Given the description of an element on the screen output the (x, y) to click on. 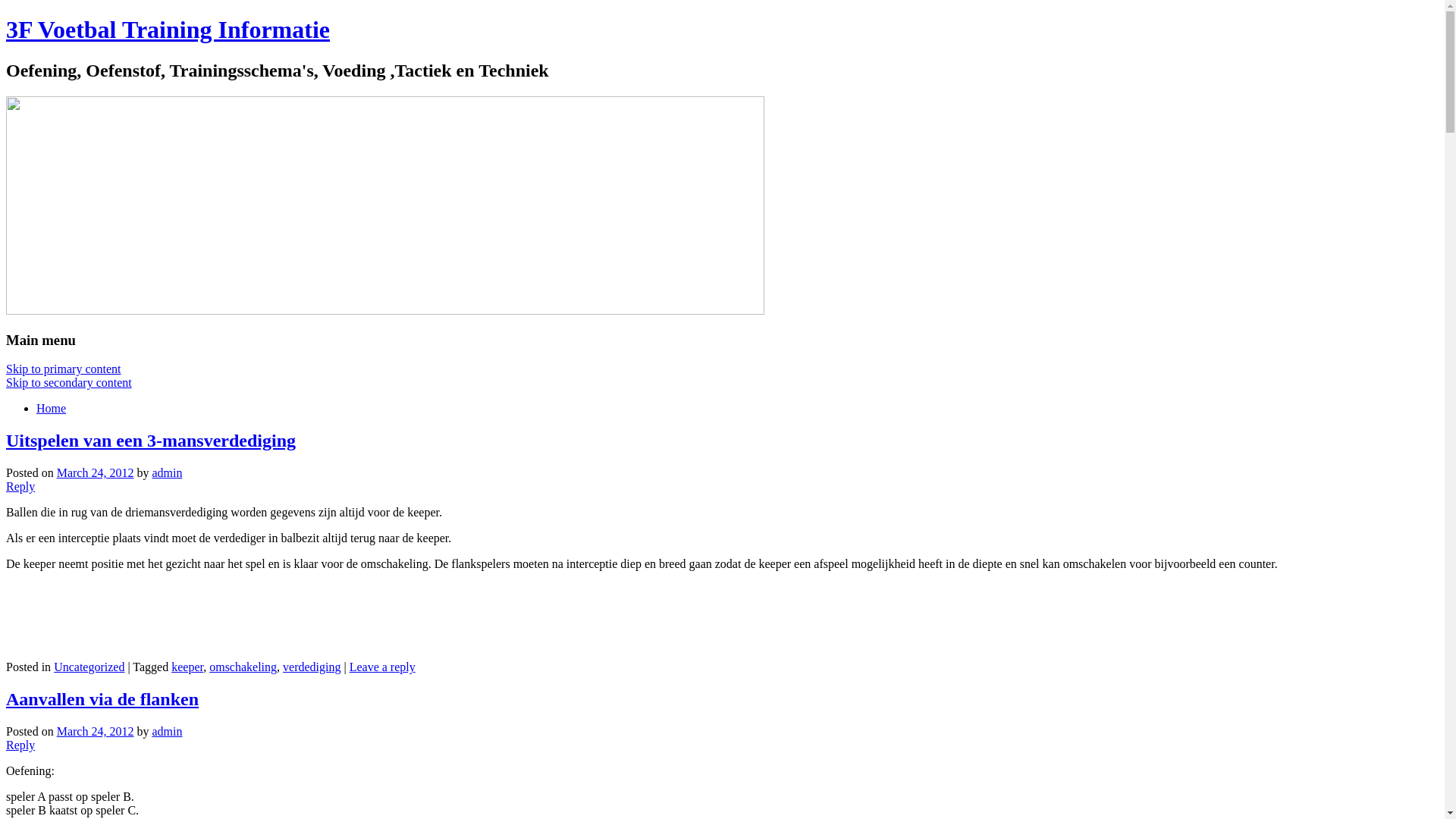
keeper Element type: text (187, 666)
Reply Element type: text (20, 744)
admin Element type: text (166, 730)
admin Element type: text (166, 472)
Home Element type: text (50, 407)
Reply Element type: text (20, 486)
verdediging Element type: text (311, 666)
omschakeling Element type: text (242, 666)
Uncategorized Element type: text (88, 666)
Leave a reply Element type: text (382, 666)
March 24, 2012 Element type: text (95, 472)
3F Voetbal Training Informatie Element type: text (167, 29)
Uitspelen van een 3-mansverdediging Element type: text (150, 440)
Skip to secondary content Element type: text (68, 382)
March 24, 2012 Element type: text (95, 730)
Aanvallen via de flanken Element type: text (102, 699)
Skip to primary content Element type: text (63, 368)
